Given the description of an element on the screen output the (x, y) to click on. 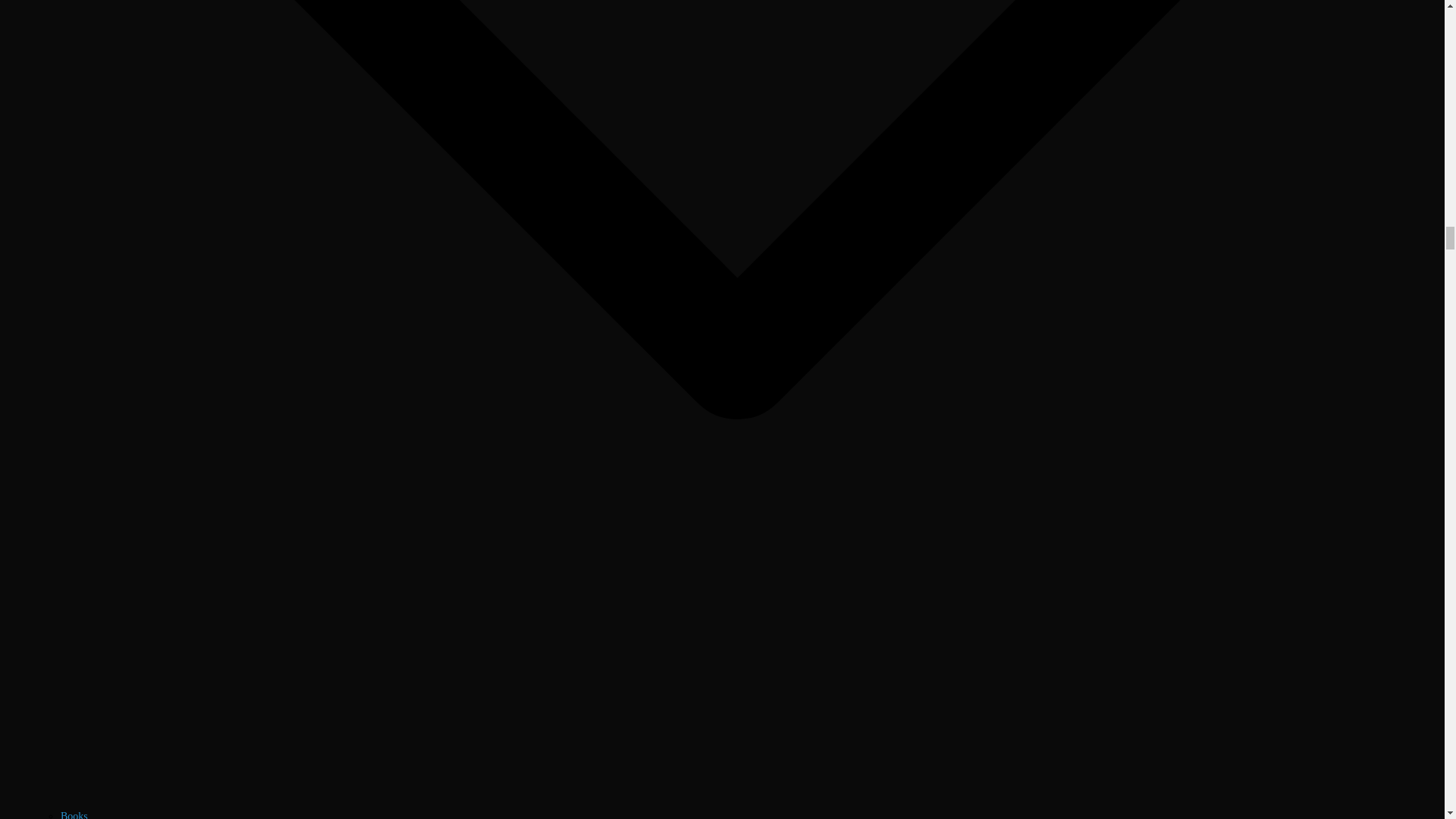
Books (74, 814)
